Given the description of an element on the screen output the (x, y) to click on. 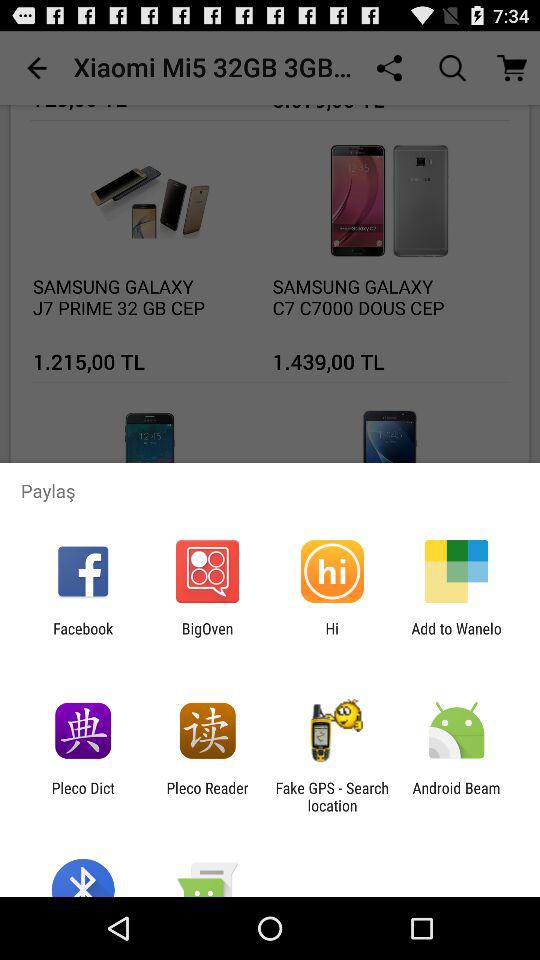
select the icon to the right of pleco reader item (332, 796)
